Given the description of an element on the screen output the (x, y) to click on. 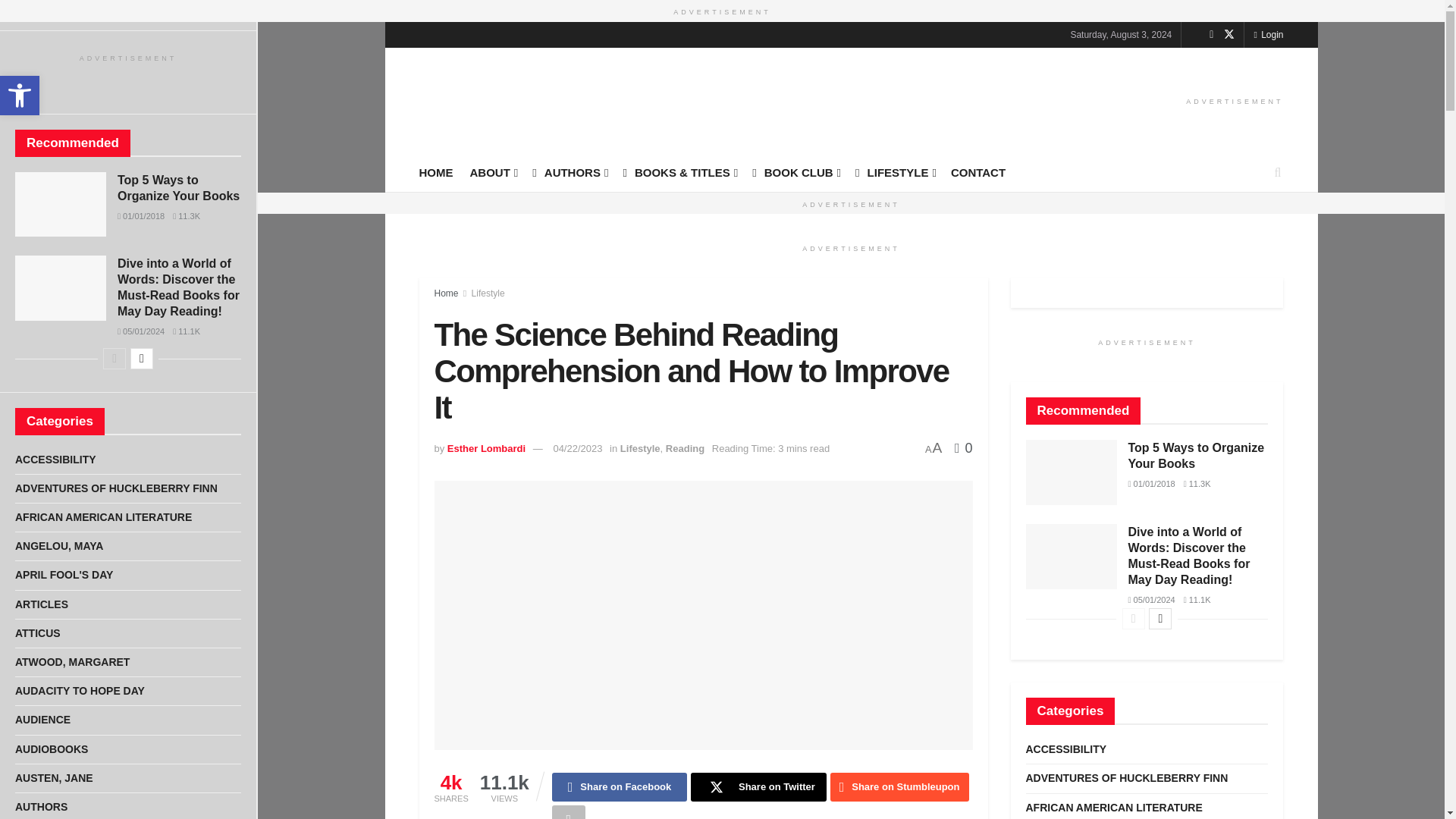
AUTHORS (40, 806)
AUDACITY TO HOPE DAY (79, 691)
AFRICAN AMERICAN LITERATURE (103, 517)
ADVENTURES OF HUCKLEBERRY FINN (115, 488)
ACCESSIBILITY (55, 459)
ANGELOU, MAYA (58, 546)
AUSTEN, JANE (53, 778)
ARTICLES (41, 604)
11.3K (186, 215)
ATTICUS (37, 633)
Next (141, 358)
Previous (114, 358)
11.1K (186, 330)
AUDIENCE (41, 719)
